Given the description of an element on the screen output the (x, y) to click on. 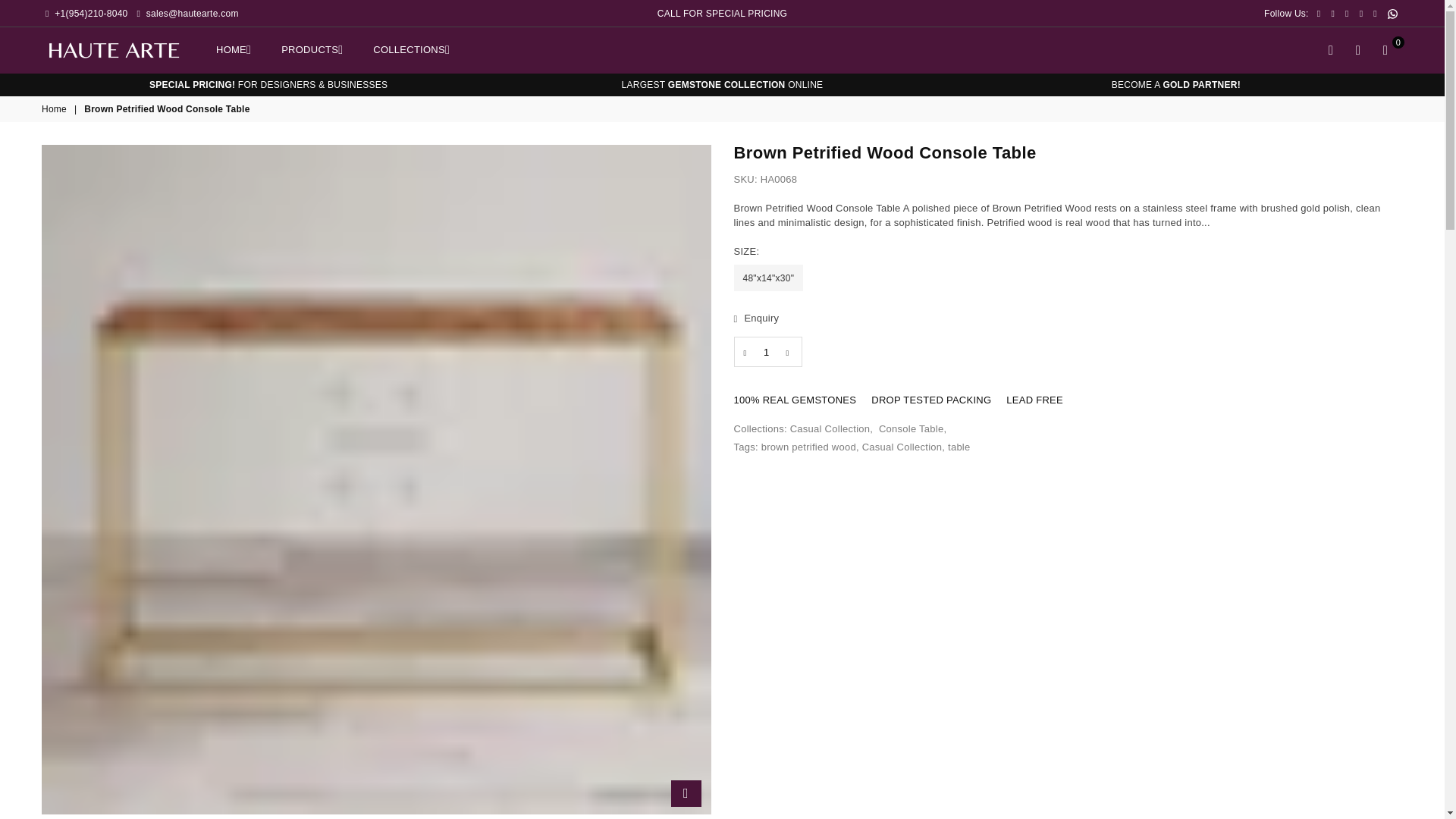
Cart (1385, 49)
HAUTE ARTE on Facebook (1318, 13)
Linkedin (1374, 13)
HOME (233, 49)
Instagram (1361, 13)
Pinterest (1346, 13)
HAUTE ARTE (125, 49)
Quantity (767, 351)
HAUTE ARTE on Pinterest (1346, 13)
Whatsapp (1392, 13)
